Given the description of an element on the screen output the (x, y) to click on. 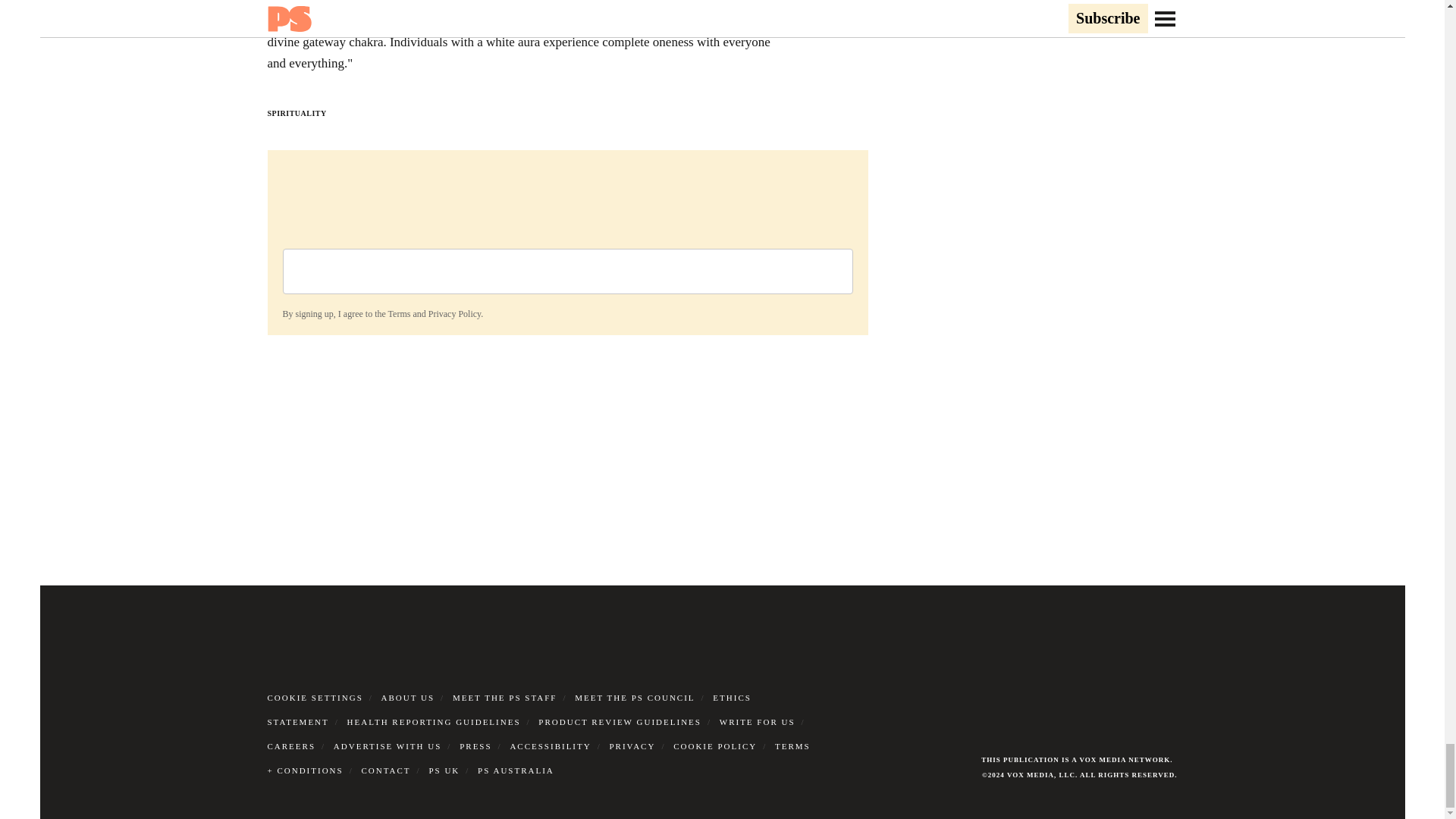
Terms (399, 313)
MEET THE PS STAFF (504, 697)
Privacy Policy. (455, 313)
SPIRITUALITY (296, 112)
ABOUT US (408, 697)
